Given the description of an element on the screen output the (x, y) to click on. 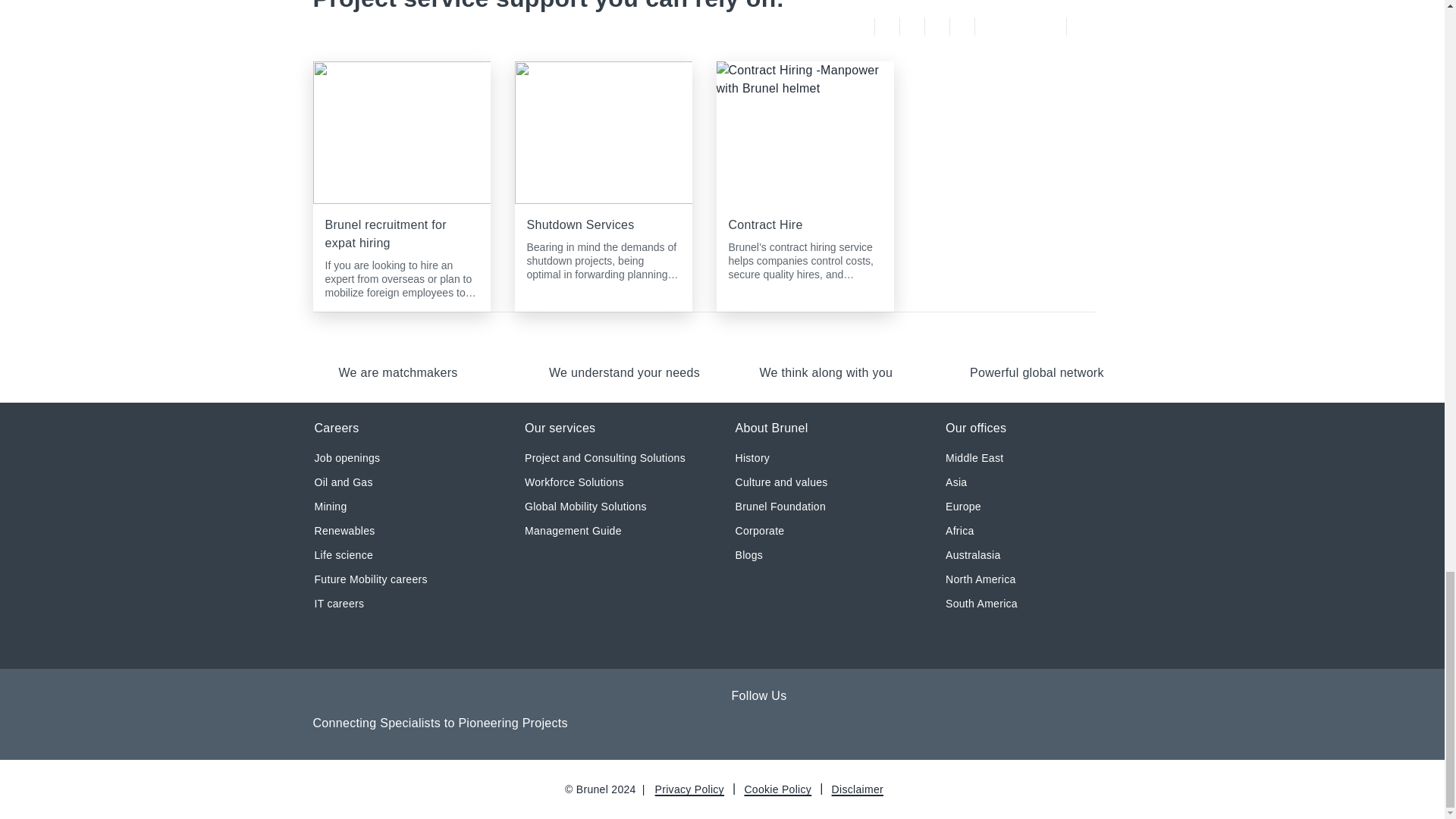
IT careers (339, 603)
Workforce Solutions (574, 482)
Our services (559, 429)
Global Mobility Solutions (585, 506)
Future Mobility careers (370, 579)
Oil and Gas (343, 482)
Life science (343, 554)
Project and Consulting Solutions (604, 458)
Job openings (347, 458)
Careers (336, 429)
